Given the description of an element on the screen output the (x, y) to click on. 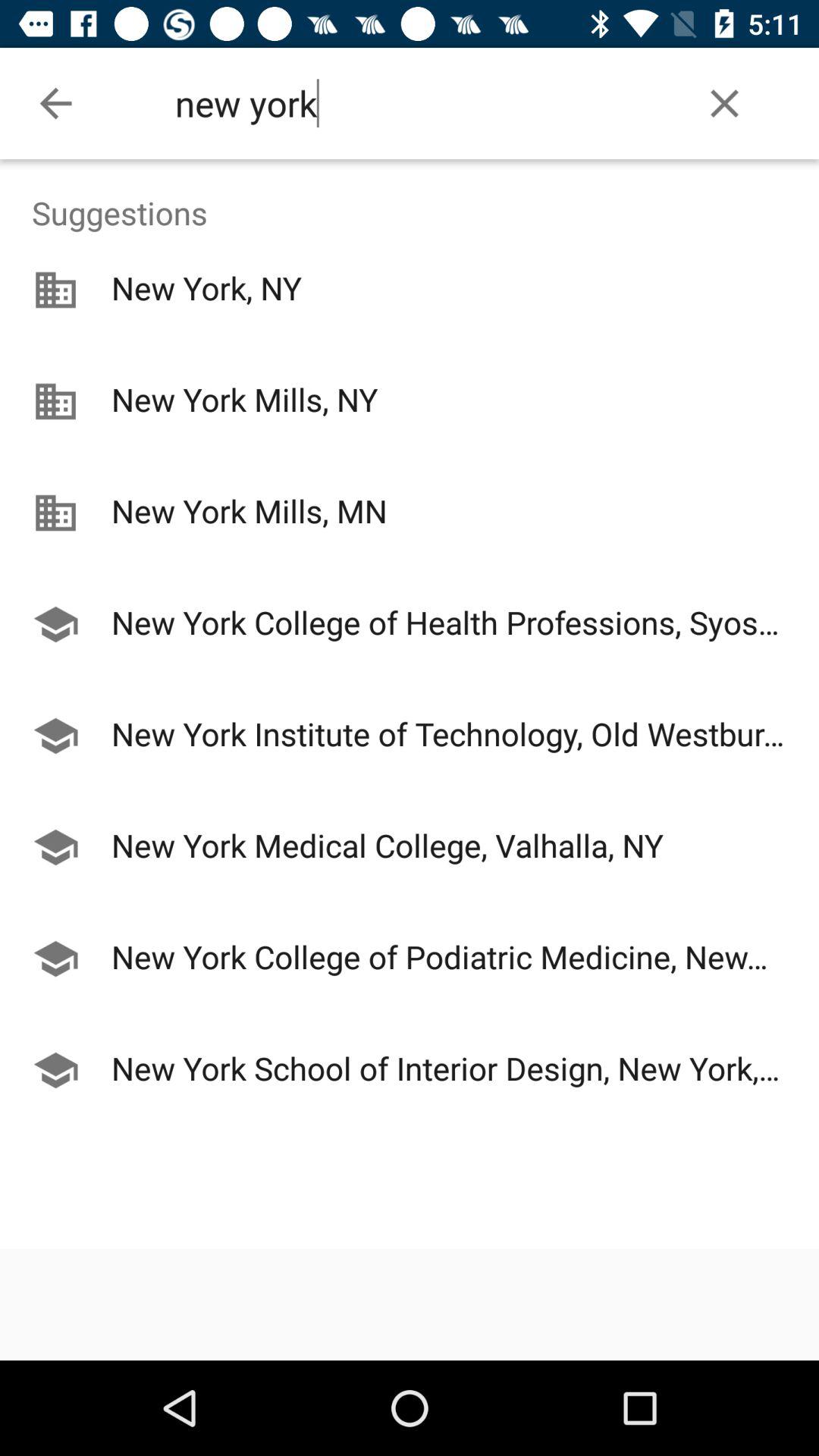
tap the icon above the suggestions (55, 103)
